Given the description of an element on the screen output the (x, y) to click on. 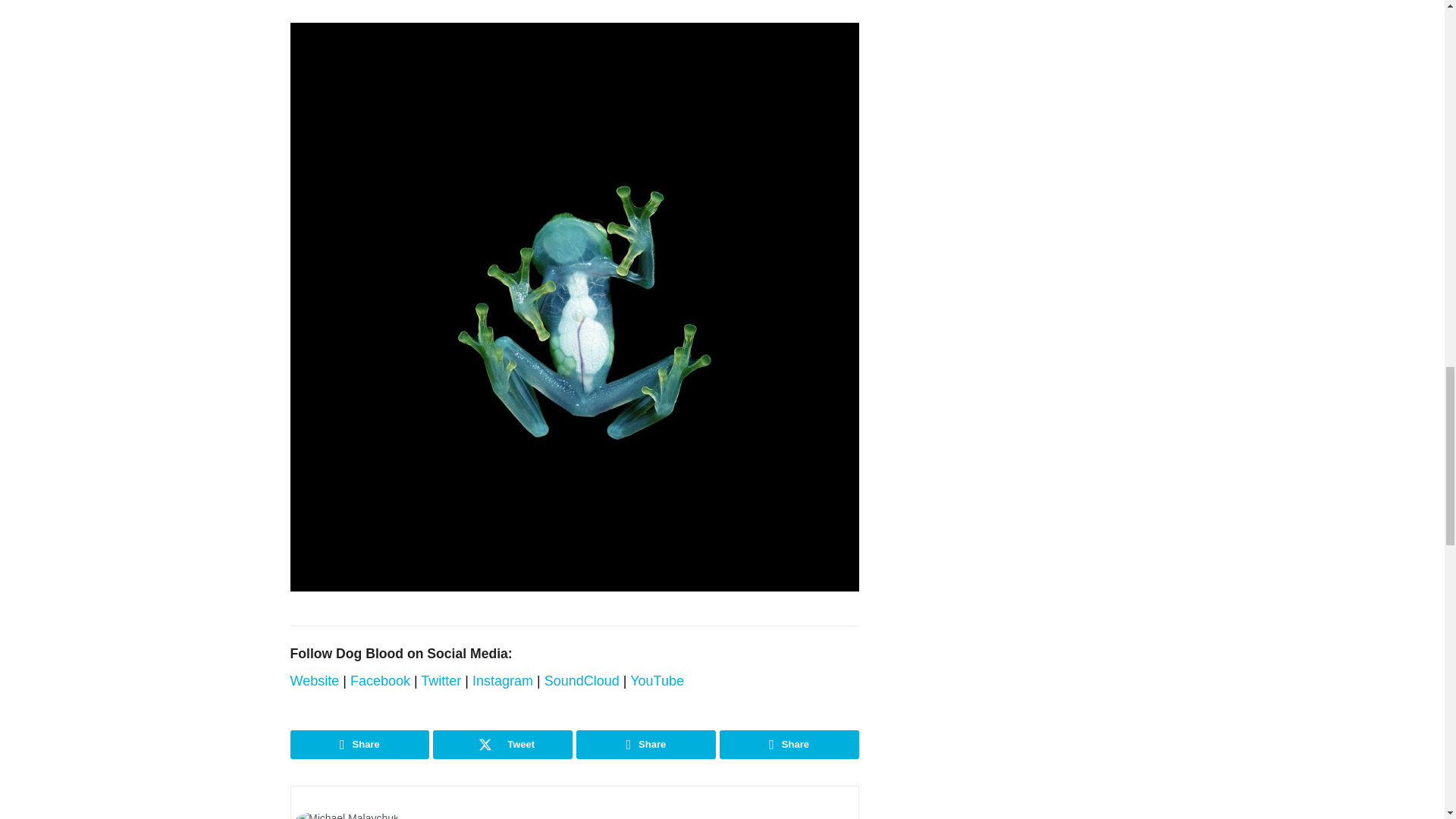
YouTube (657, 680)
Instagram (501, 680)
Website (314, 680)
SoundCloud (582, 680)
Share (359, 744)
Facebook (380, 680)
Tweet (502, 744)
Twitter (440, 680)
